Given the description of an element on the screen output the (x, y) to click on. 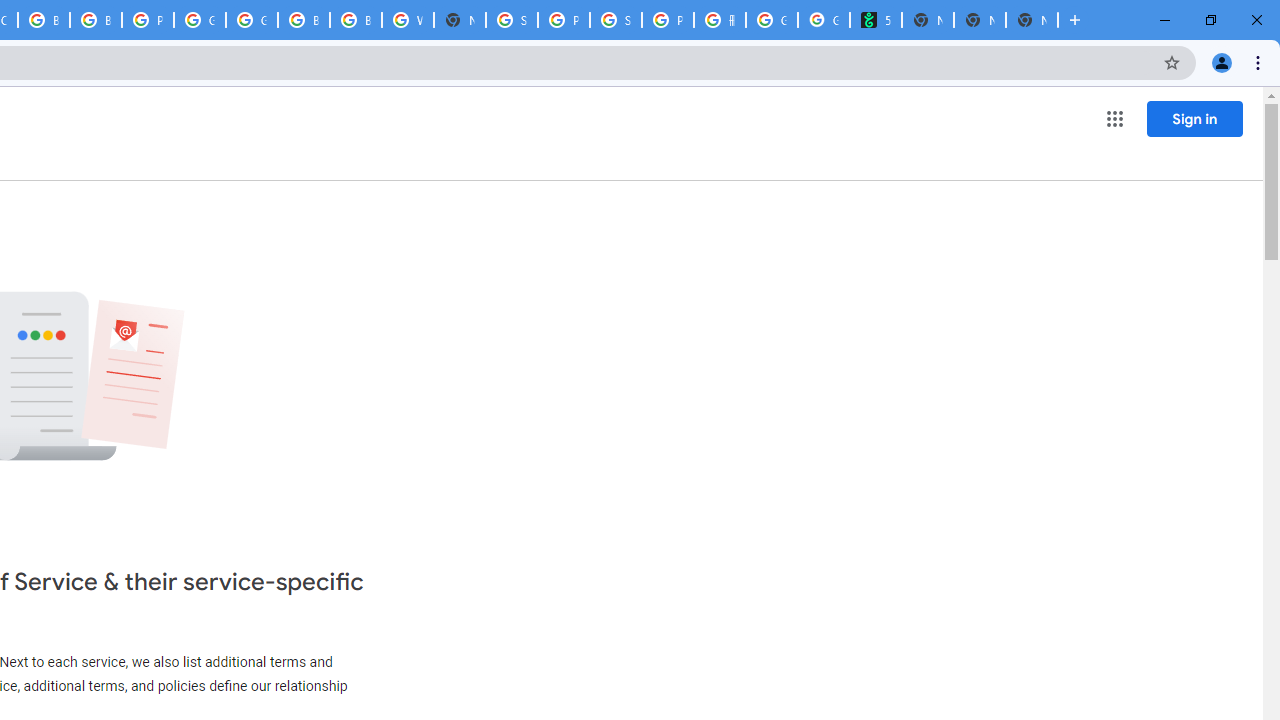
Browse Chrome as a guest - Computer - Google Chrome Help (303, 20)
Browse Chrome as a guest - Computer - Google Chrome Help (43, 20)
New Tab (1075, 20)
Sign in - Google Accounts (511, 20)
Browse Chrome as a guest - Computer - Google Chrome Help (95, 20)
Restore (1210, 20)
